Given the description of an element on the screen output the (x, y) to click on. 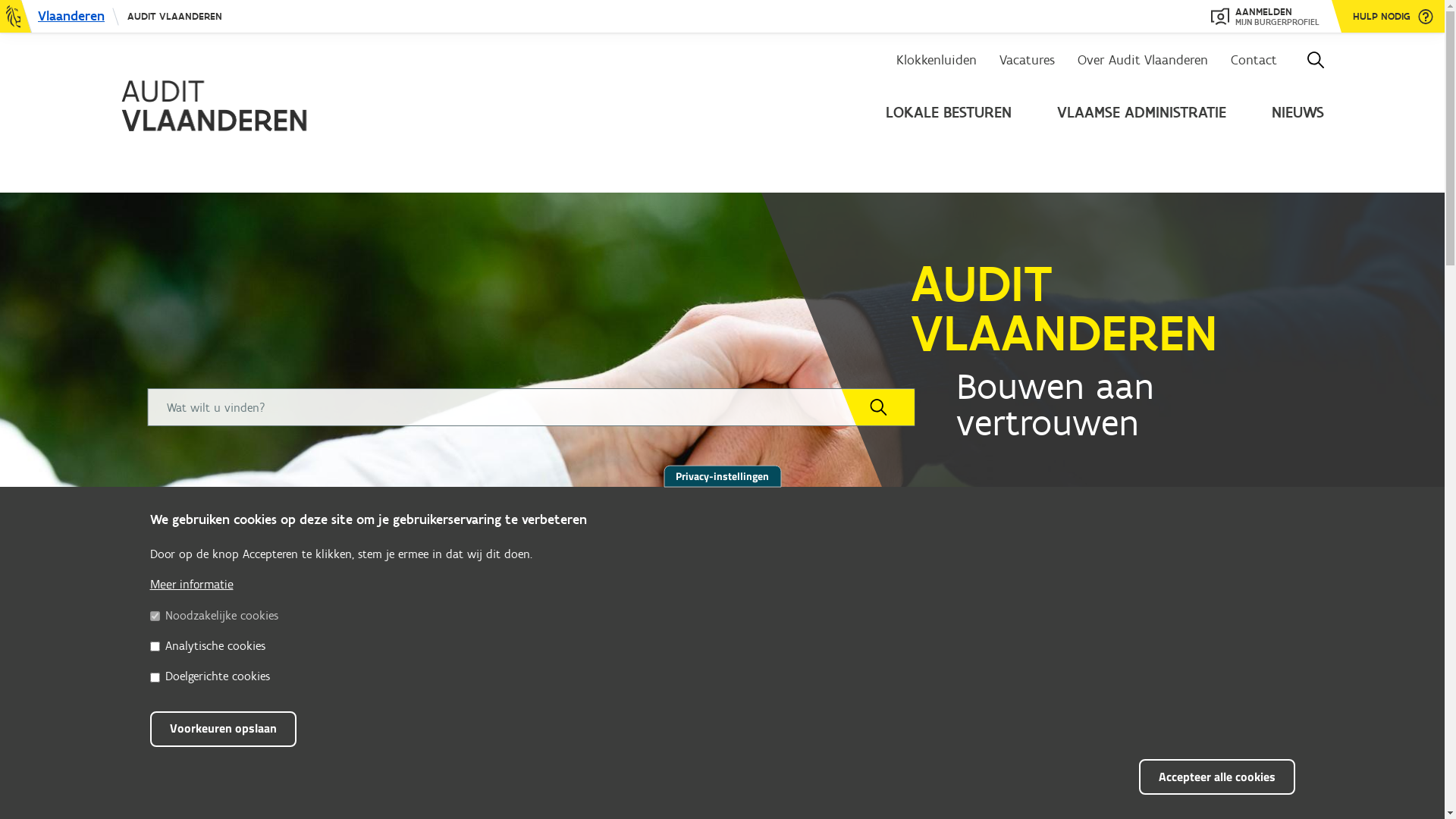
AANMELDEN
MIJN BURGERPROFIEL Element type: text (1265, 16)
Zoeken Element type: text (877, 407)
Contact Element type: text (1253, 59)
Over Audit Vlaanderen Element type: text (1142, 59)
NIEUWS Element type: text (1297, 111)
Accepteer alle cookies Element type: text (1217, 776)
Voorkeuren opslaan Element type: text (223, 728)
RAPPORTEN EN PUBLICATIES Element type: text (611, 650)
Toestemming intrekken Element type: text (1314, 766)
AUDIT VLAANDEREN Element type: text (174, 16)
Naar de inhoud Element type: text (0, 0)
HULP NODIG Element type: text (1392, 16)
Meer informatie Element type: text (191, 584)
LOKALE BESTUREN Element type: text (948, 111)
Klokkenluiden Element type: text (936, 59)
GOEDE PRAKTIJKEN Element type: text (1074, 640)
VLAAMSE ADMINISTRATIE Element type: text (1141, 111)
KLOKKENLUIDEN Element type: text (380, 640)
Vacatures Element type: text (1026, 59)
Vlaanderen Element type: text (59, 16)
Privacy-instellingen Element type: text (722, 475)
ZELF AAN DE SLAG Element type: text (843, 640)
Ga naar de homepage Element type: hover (254, 104)
